Given the description of an element on the screen output the (x, y) to click on. 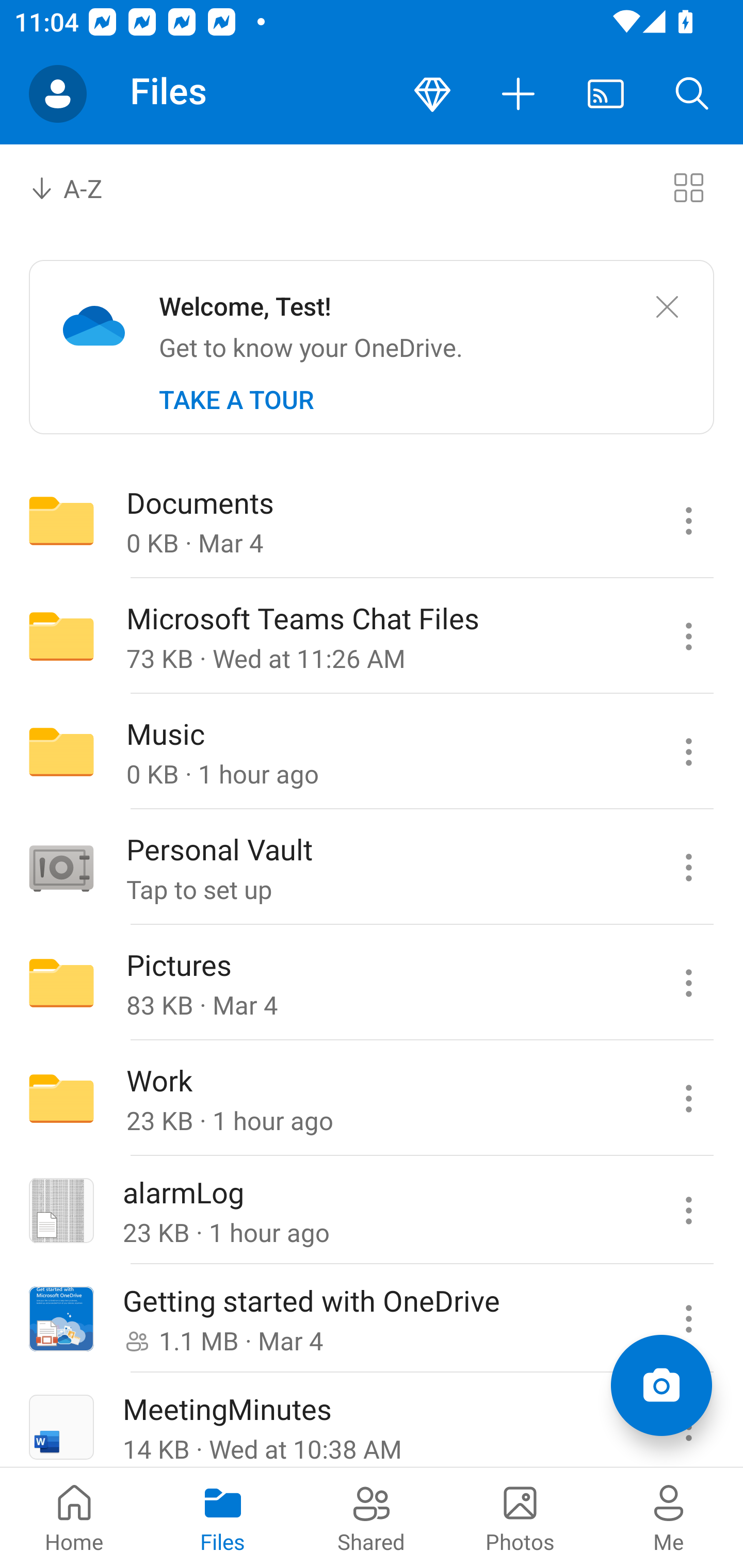
Account switcher (57, 93)
Cast. Disconnected (605, 93)
Premium button (432, 93)
More actions button (518, 93)
Search button (692, 93)
A-Z Sort by combo box, sort by name, A to Z (80, 187)
Switch to tiles view (688, 187)
Close (667, 307)
TAKE A TOUR (236, 399)
Folder Documents 0 KB · Mar 4 Documents commands (371, 520)
Documents commands (688, 520)
Microsoft Teams Chat Files commands (688, 636)
Folder Music 0 KB · 1 hour ago Music commands (371, 751)
Music commands (688, 751)
Personal Vault commands (688, 867)
Folder Pictures 83 KB · Mar 4 Pictures commands (371, 983)
Pictures commands (688, 983)
Folder Work 23 KB · 1 hour ago Work commands (371, 1099)
Work commands (688, 1099)
alarmLog commands (688, 1211)
Getting started with OneDrive commands (688, 1319)
Add items Scan (660, 1385)
Home pivot Home (74, 1517)
Shared pivot Shared (371, 1517)
Photos pivot Photos (519, 1517)
Me pivot Me (668, 1517)
